Given the description of an element on the screen output the (x, y) to click on. 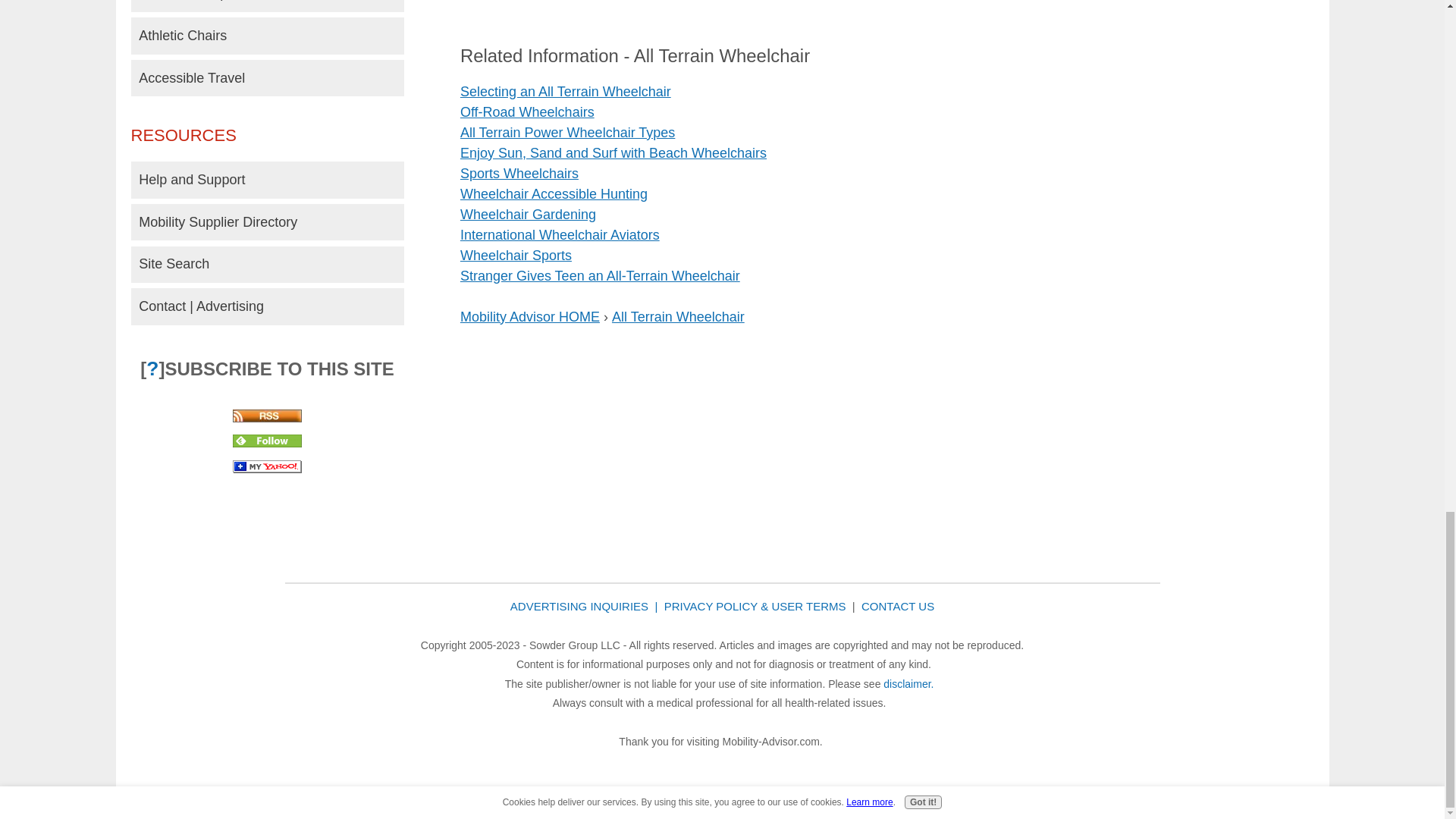
All Terrain Wheelchair (677, 316)
International Wheelchair Aviators (559, 234)
Wheelchair Sports (516, 255)
Sports Wheelchairs (519, 173)
Mobility Advisor HOME (529, 316)
Wheelchair Gardening (527, 214)
Stranger Gives Teen an All-Terrain Wheelchair (599, 275)
Wheelchair Accessible Hunting (553, 193)
Enjoy Sun, Sand and Surf with Beach Wheelchairs (613, 152)
All Terrain Power Wheelchair Types (567, 132)
